Given the description of an element on the screen output the (x, y) to click on. 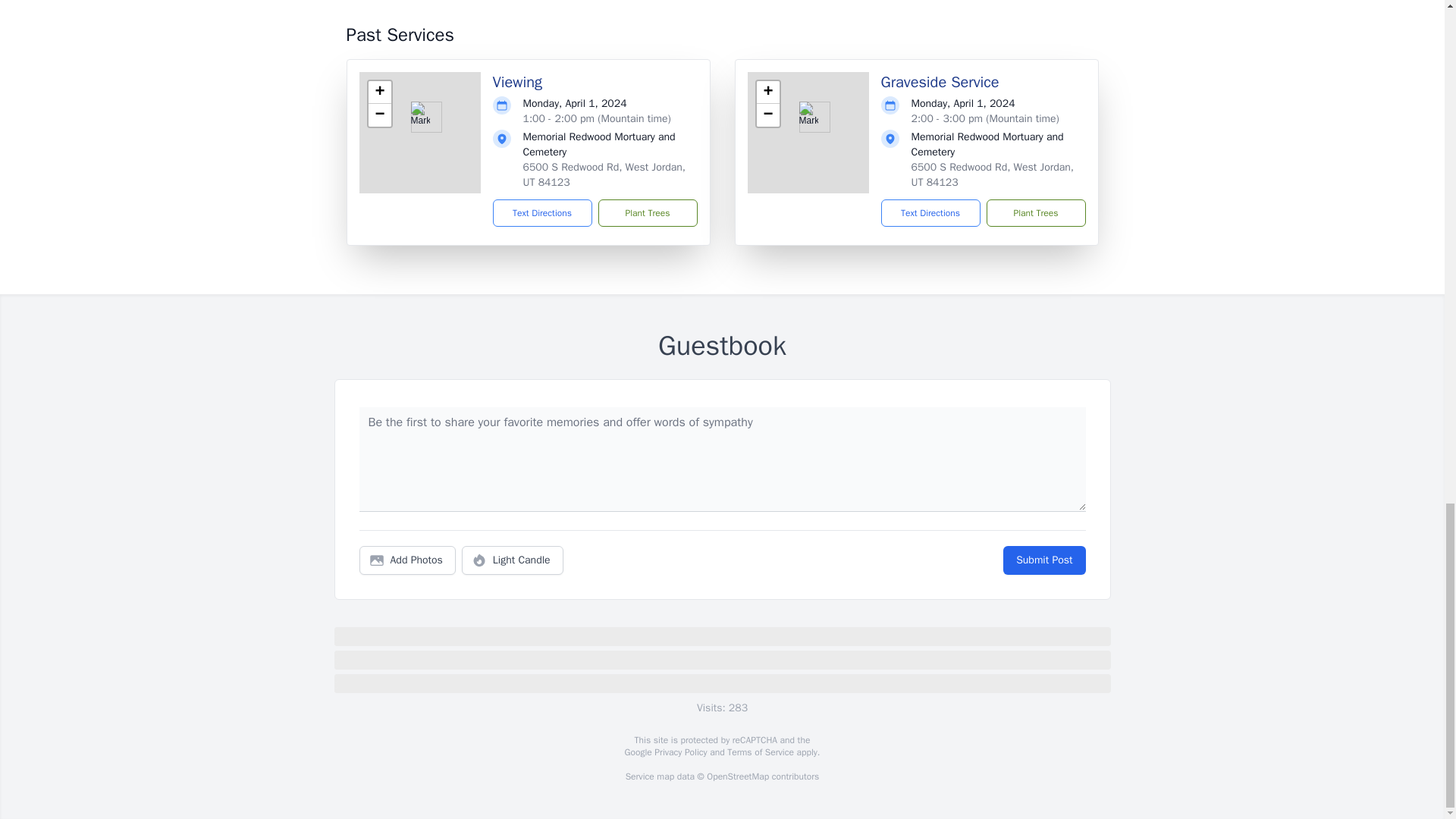
Zoom in (379, 92)
Text Directions (929, 212)
Terms of Service (759, 752)
6500 S Redwood Rd, West Jordan, UT 84123 (603, 174)
Privacy Policy (679, 752)
Plant Trees (1034, 212)
Text Directions (542, 212)
Zoom out (767, 115)
Light Candle (512, 560)
Submit Post (1043, 560)
Add Photos (407, 560)
Zoom in (767, 92)
Plant Trees (646, 212)
6500 S Redwood Rd, West Jordan, UT 84123 (992, 174)
Zoom out (379, 115)
